Given the description of an element on the screen output the (x, y) to click on. 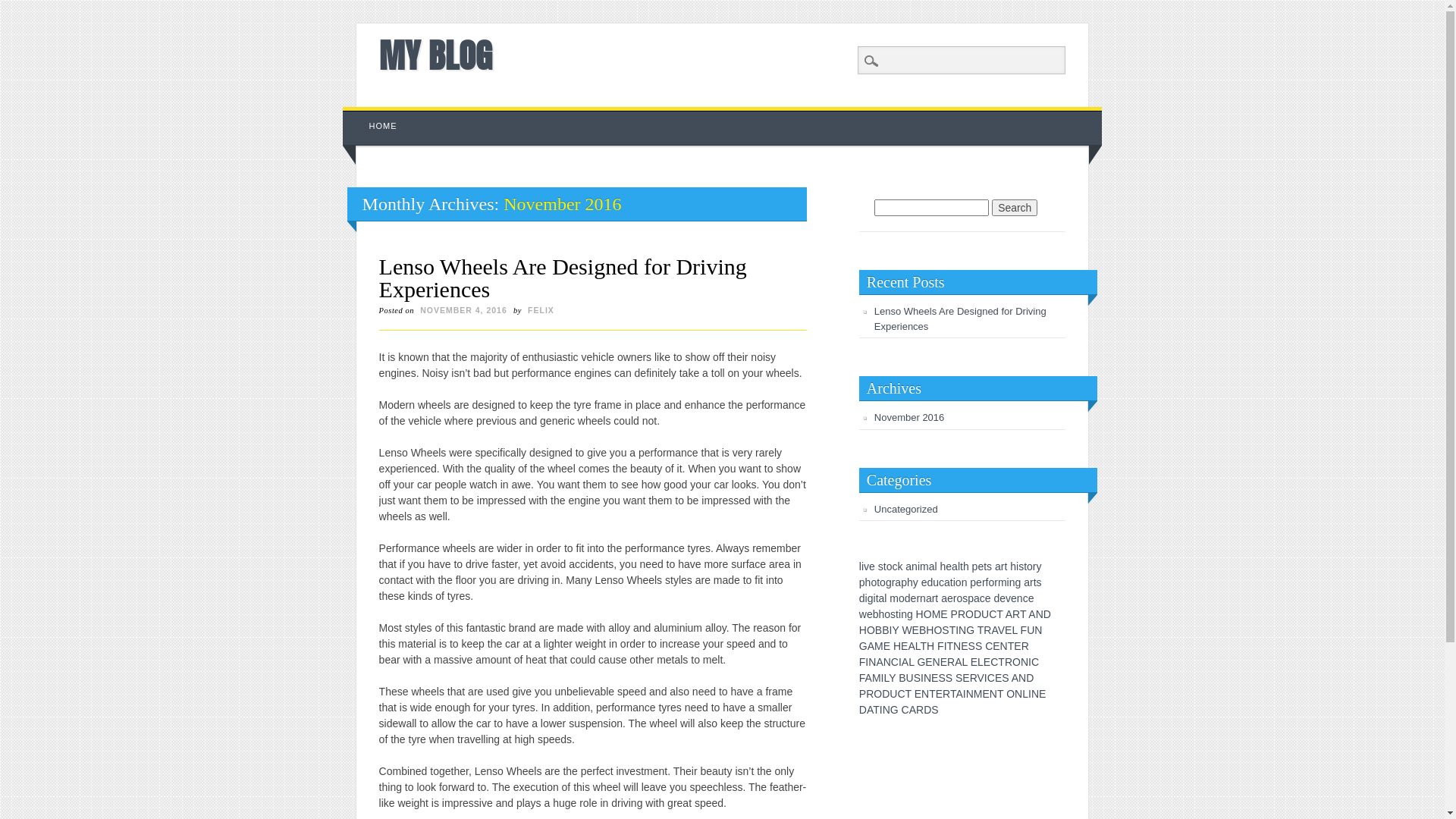
i Element type: text (899, 614)
r Element type: text (893, 582)
M Element type: text (936, 614)
t Element type: text (1005, 566)
o Element type: text (873, 582)
N Element type: text (956, 646)
r Element type: text (995, 582)
t Element type: text (1024, 566)
N Element type: text (1039, 614)
U Element type: text (984, 614)
U Element type: text (1030, 630)
E Element type: text (985, 693)
S Element type: text (944, 630)
a Element type: text (897, 582)
A Element type: text (869, 709)
t Element type: text (877, 582)
r Element type: text (917, 598)
S Element type: text (916, 677)
Uncategorized Element type: text (906, 508)
D Element type: text (977, 614)
N Element type: text (887, 661)
o Element type: text (882, 582)
E Element type: text (1041, 693)
S Element type: text (934, 709)
h Element type: text (966, 566)
A Element type: text (868, 677)
t Element type: text (984, 566)
p Element type: text (972, 582)
E Element type: text (995, 646)
O Element type: text (1016, 661)
P Element type: text (862, 693)
U Element type: text (893, 693)
T Element type: text (908, 693)
N Element type: text (1003, 646)
p Element type: text (903, 582)
C Element type: text (900, 693)
D Element type: text (885, 693)
n Element type: text (964, 582)
E Element type: text (886, 646)
D Element type: text (862, 709)
e Element type: text (872, 566)
h Element type: text (868, 582)
E Element type: text (963, 646)
a Element type: text (908, 566)
l Element type: text (885, 598)
N Element type: text (1034, 693)
A Element type: text (870, 646)
w Element type: text (862, 614)
l Element type: text (935, 566)
t Element type: text (951, 582)
E Element type: text (943, 661)
A Element type: text (904, 661)
E Element type: text (928, 661)
O Element type: text (1010, 693)
I Element type: text (882, 677)
L Element type: text (1025, 693)
a Element type: text (944, 598)
r Element type: text (983, 582)
Lenso Wheels Are Designed for Driving Experiences Element type: text (960, 318)
I Element type: text (945, 646)
i Element type: text (1017, 566)
A Element type: text (1008, 614)
a Element type: text (881, 598)
a Element type: text (997, 566)
d Element type: text (929, 582)
E Element type: text (915, 630)
I Element type: text (889, 630)
g Element type: text (888, 582)
o Element type: text (889, 566)
L Element type: text (964, 661)
A Element type: text (912, 709)
b Element type: text (875, 614)
N Element type: text (924, 693)
O Element type: text (969, 614)
T Element type: text (1000, 661)
N Element type: text (927, 677)
E Element type: text (973, 661)
W Element type: text (906, 630)
G Element type: text (863, 646)
e Element type: text (950, 598)
T Element type: text (923, 646)
v Element type: text (1007, 598)
n Element type: text (914, 566)
e Element type: text (1002, 598)
c Element type: text (982, 598)
i Element type: text (918, 566)
D Element type: text (927, 709)
o Element type: text (991, 582)
Skip to content Element type: text (377, 114)
Search Element type: text (1014, 207)
Search Element type: text (22, 8)
e Element type: text (869, 614)
u Element type: text (935, 582)
S Element type: text (948, 677)
r Element type: text (955, 598)
N Element type: text (993, 693)
O Element type: text (937, 630)
L Element type: text (885, 677)
c Element type: text (1025, 598)
N Element type: text (1018, 693)
N Element type: text (969, 693)
N Element type: text (1024, 661)
T Element type: text (952, 630)
T Element type: text (1010, 646)
L Element type: text (917, 646)
R Element type: text (946, 693)
s Element type: text (880, 566)
h Element type: text (1013, 566)
S Element type: text (941, 677)
C Element type: text (990, 677)
P Element type: text (953, 614)
e Element type: text (913, 598)
C Element type: text (905, 709)
i Element type: text (862, 566)
R Element type: text (961, 614)
a Element type: text (928, 598)
A Element type: text (1031, 614)
A Element type: text (1014, 677)
A Element type: text (958, 693)
A Element type: text (957, 661)
s Element type: text (1038, 582)
e Element type: text (1013, 598)
a Element type: text (976, 598)
Lenso Wheels Are Designed for Driving Experiences Element type: text (562, 277)
T Element type: text (1022, 614)
R Element type: text (1015, 614)
R Element type: text (950, 661)
T Element type: text (953, 693)
k Element type: text (899, 566)
N Element type: text (1022, 677)
H Element type: text (919, 614)
R Element type: text (1008, 661)
O Element type: text (877, 693)
E Element type: text (997, 677)
I Element type: text (985, 677)
NOVEMBER 4, 2016 Element type: text (463, 309)
h Element type: text (881, 614)
E Element type: text (1016, 646)
Y Element type: text (894, 630)
D Element type: text (1047, 614)
a Element type: text (947, 582)
HOME Element type: text (383, 125)
m Element type: text (923, 566)
H Element type: text (930, 646)
I Element type: text (964, 693)
E Element type: text (965, 677)
D Element type: text (1029, 677)
s Element type: text (1020, 566)
November 2016 Element type: text (909, 417)
s Element type: text (892, 614)
n Element type: text (1019, 598)
i Element type: text (866, 598)
t Element type: text (1034, 582)
O Element type: text (870, 630)
C Element type: text (992, 614)
o Element type: text (887, 614)
n Element type: text (922, 598)
E Element type: text (986, 661)
y Element type: text (915, 582)
A Element type: text (994, 630)
i Element type: text (874, 598)
B Element type: text (884, 630)
e Element type: text (988, 598)
h Element type: text (909, 582)
a Element type: text (954, 566)
R Element type: text (869, 693)
e Element type: text (980, 566)
i Element type: text (954, 582)
O Element type: text (927, 614)
s Element type: text (988, 566)
T Element type: text (875, 709)
c Element type: text (894, 566)
o Element type: text (959, 598)
T Element type: text (950, 646)
R Element type: text (1025, 646)
C Element type: text (1034, 661)
n Element type: text (903, 614)
T Element type: text (1000, 693)
B Element type: text (922, 630)
Y Element type: text (891, 677)
N Element type: text (1037, 630)
R Element type: text (919, 709)
g Element type: text (1018, 582)
a Element type: text (931, 566)
B Element type: text (901, 677)
e Element type: text (978, 582)
I Element type: text (880, 709)
T Element type: text (980, 630)
i Element type: text (1008, 582)
V Element type: text (1000, 630)
f Element type: text (986, 582)
I Element type: text (1029, 693)
e Element type: text (924, 582)
T Element type: text (931, 693)
h Element type: text (943, 566)
E Element type: text (903, 646)
p Element type: text (862, 582)
I Element type: text (921, 677)
I Element type: text (899, 661)
L Element type: text (1013, 630)
I Element type: text (866, 661)
C Element type: text (894, 661)
r Element type: text (1034, 566)
E Element type: text (938, 693)
S Element type: text (1004, 677)
G Element type: text (970, 630)
FELIX Element type: text (541, 309)
U Element type: text (909, 677)
m Element type: text (893, 598)
t Element type: text (936, 598)
T Element type: text (999, 614)
A Element type: text (878, 661)
N Element type: text (871, 661)
t Element type: text (961, 566)
s Element type: text (964, 598)
C Element type: text (988, 646)
M Element type: text (878, 646)
I Element type: text (1029, 661)
d Element type: text (862, 598)
l Element type: text (958, 566)
H Element type: text (862, 630)
V Element type: text (980, 677)
H Element type: text (896, 646)
N Element type: text (962, 630)
t Element type: text (896, 614)
r Element type: text (1002, 566)
n Element type: text (1012, 582)
t Element type: text (876, 598)
o Element type: text (1029, 566)
A Element type: text (910, 646)
MY BLOG Element type: text (435, 55)
R Element type: text (973, 677)
r Element type: text (1031, 582)
c Element type: text (941, 582)
S Element type: text (958, 677)
M Element type: text (977, 693)
d Element type: text (996, 598)
B Element type: text (878, 630)
o Element type: text (901, 598)
l Element type: text (860, 566)
R Element type: text (987, 630)
p Element type: text (970, 598)
N Element type: text (936, 661)
a Element type: text (1026, 582)
L Element type: text (910, 661)
d Element type: text (907, 598)
N Element type: text (886, 709)
E Element type: text (943, 614)
t Element type: text (884, 566)
H Element type: text (929, 630)
E Element type: text (1007, 630)
G Element type: text (894, 709)
g Element type: text (870, 598)
y Element type: text (1038, 566)
C Element type: text (993, 661)
e Element type: text (1031, 598)
F Element type: text (862, 677)
o Element type: text (958, 582)
S Element type: text (978, 646)
p Element type: text (975, 566)
e Element type: text (948, 566)
g Element type: text (909, 614)
S Element type: text (971, 646)
L Element type: text (980, 661)
F Element type: text (1023, 630)
m Element type: text (1002, 582)
F Element type: text (862, 661)
r Element type: text (933, 598)
I Element type: text (956, 630)
E Element type: text (934, 677)
v Element type: text (866, 566)
E Element type: text (917, 693)
G Element type: text (920, 661)
F Element type: text (940, 646)
M Element type: text (876, 677)
